Given the description of an element on the screen output the (x, y) to click on. 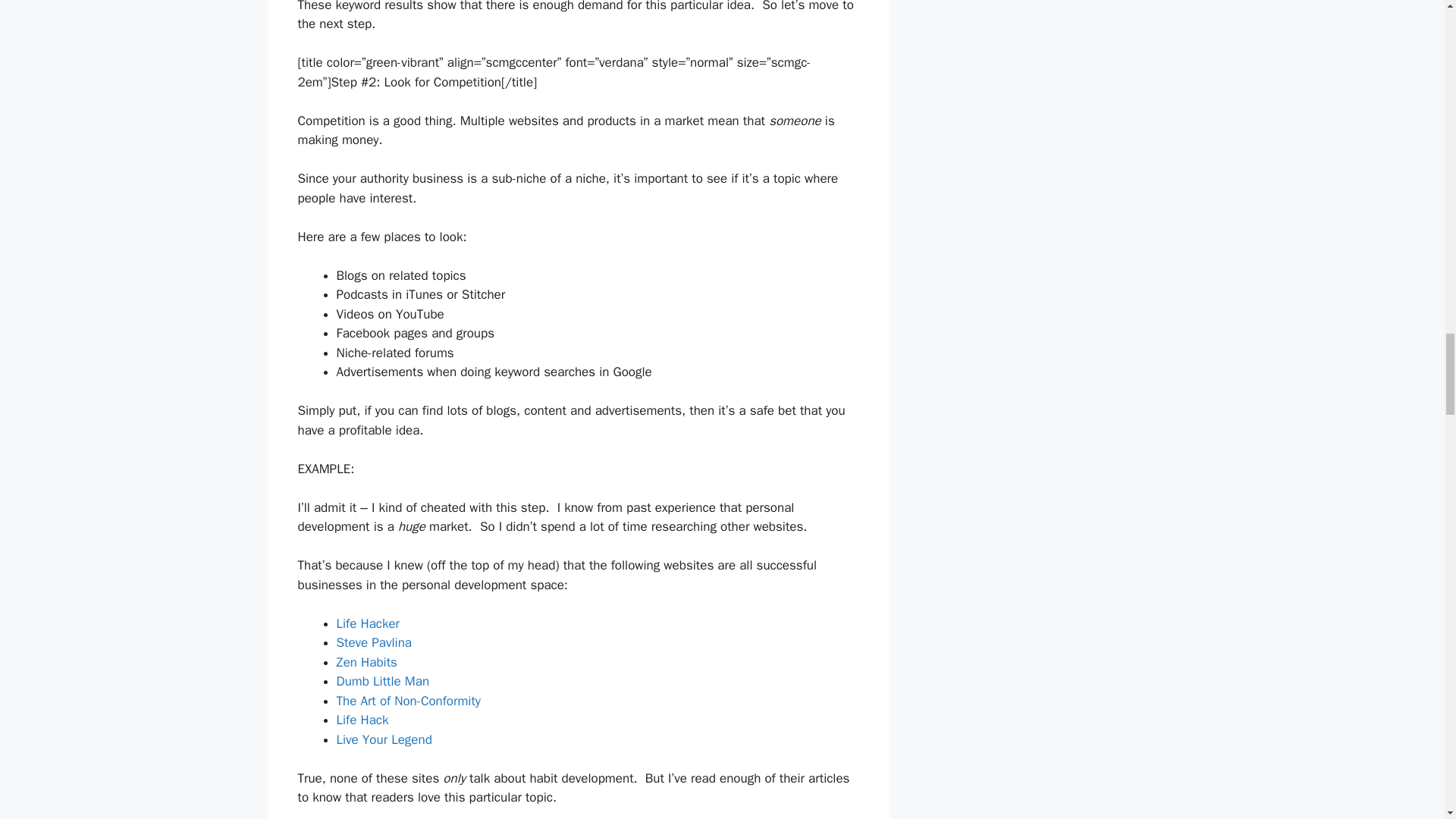
Steve Pavlina (374, 642)
Life Hacker (368, 623)
